Given the description of an element on the screen output the (x, y) to click on. 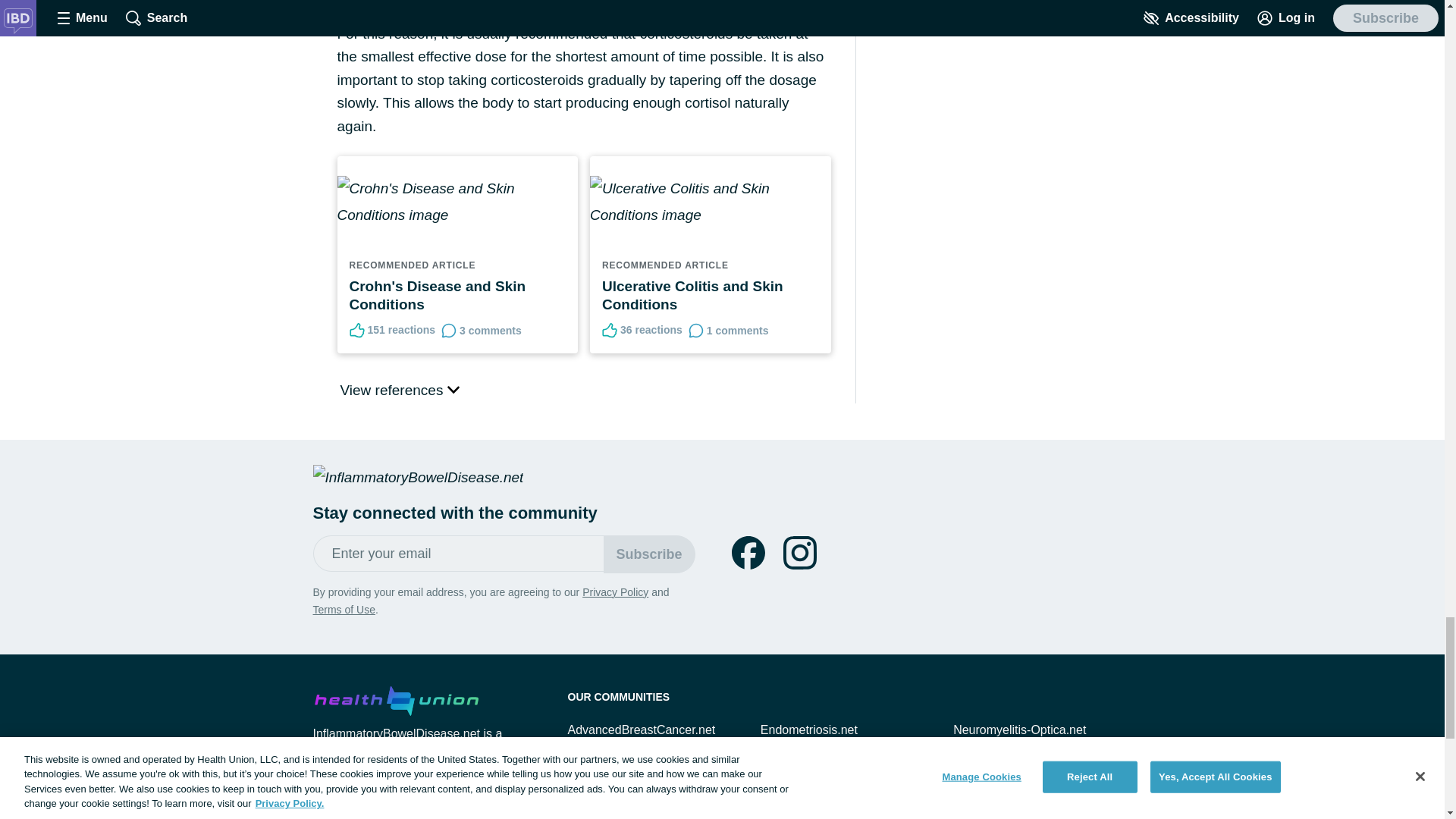
Reactions (356, 330)
Reactions (609, 330)
Comments (695, 330)
Follow us on instagram (799, 552)
Follow us on facebook (747, 552)
caret icon (453, 388)
Comments (449, 330)
